Given the description of an element on the screen output the (x, y) to click on. 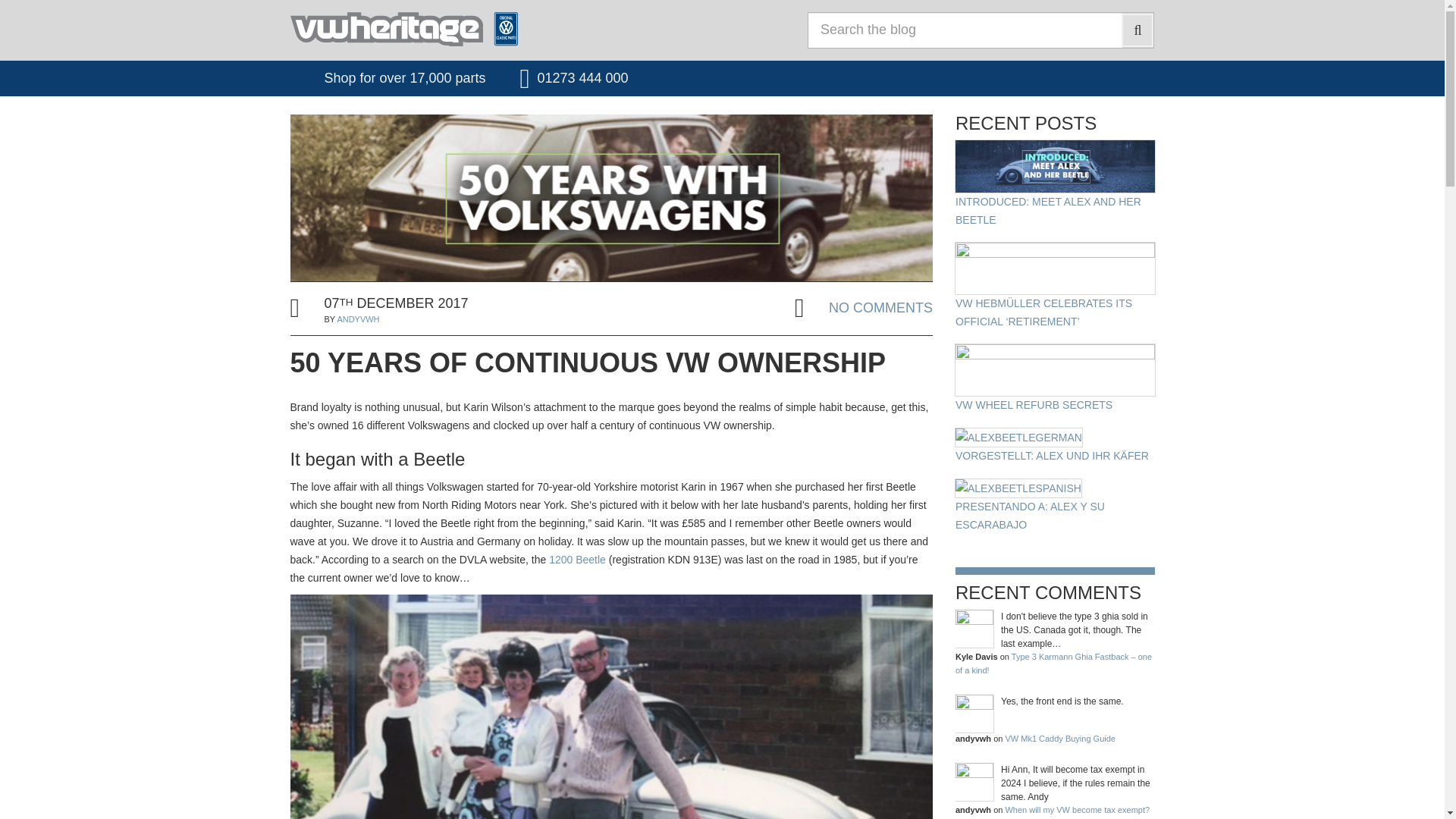
1200 Beetle (576, 559)
INTRODUCED: MEET ALEX AND HER BEETLE (1054, 184)
PRESENTANDO A: ALEX Y SU ESCARABAJO (1054, 505)
NO COMMENTS (880, 308)
When will my VW become tax exempt? (1077, 809)
VW WHEEL REFURB SECRETS (1054, 378)
VW Mk1 Caddy Buying Guide (1059, 737)
Heritage Parts Centre (499, 29)
01273 444 000 (573, 77)
Heritage Parts Centre (499, 29)
Shop for over 17,000 parts (386, 77)
ANDYVWH (357, 318)
searchBlog (1137, 29)
